Given the description of an element on the screen output the (x, y) to click on. 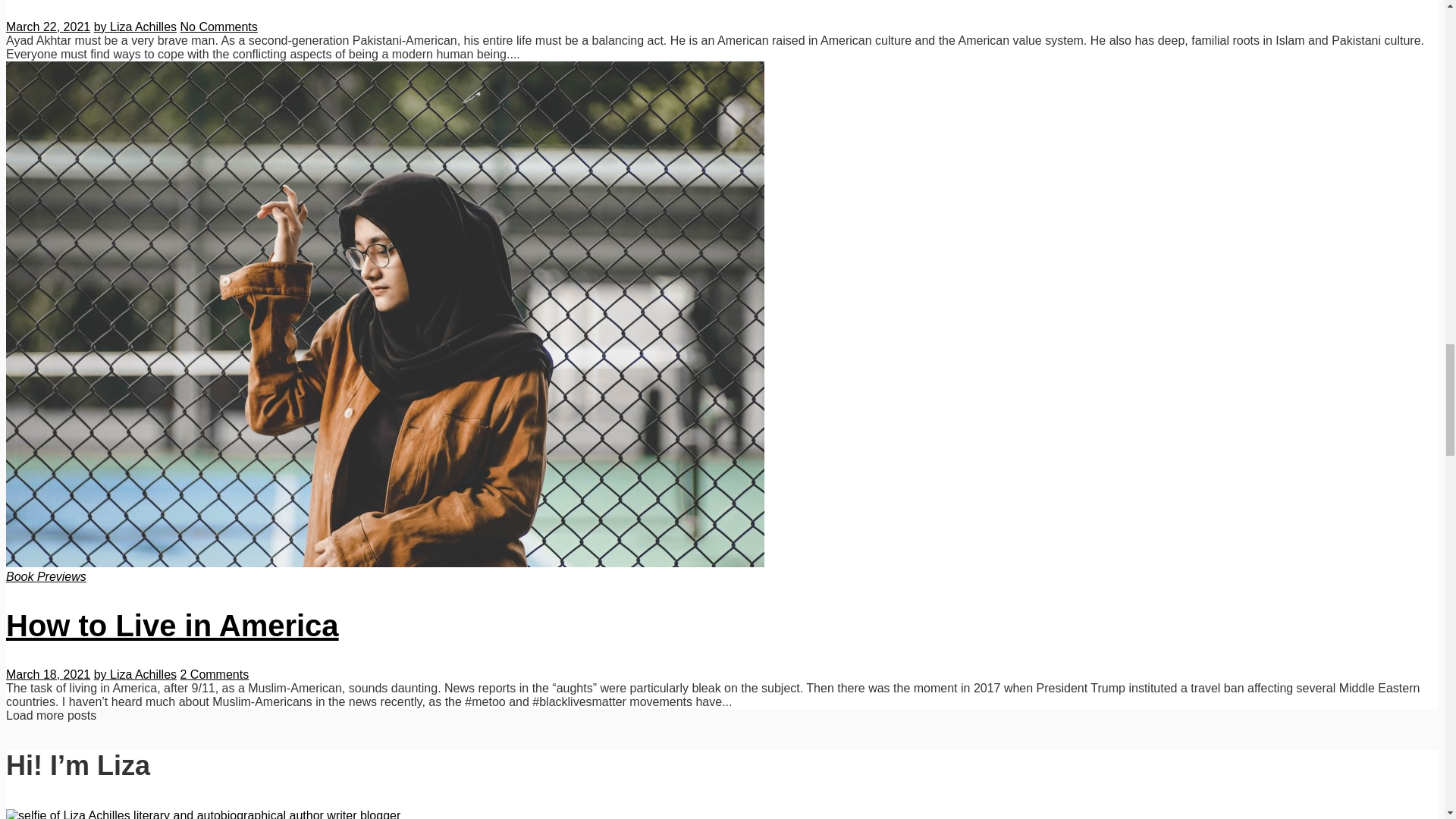
by Liza Achilles (135, 26)
Permanent (384, 562)
Hi! I'm Liza (202, 814)
March 22, 2021 (47, 26)
No Comments (218, 26)
Permanent (172, 625)
